Given the description of an element on the screen output the (x, y) to click on. 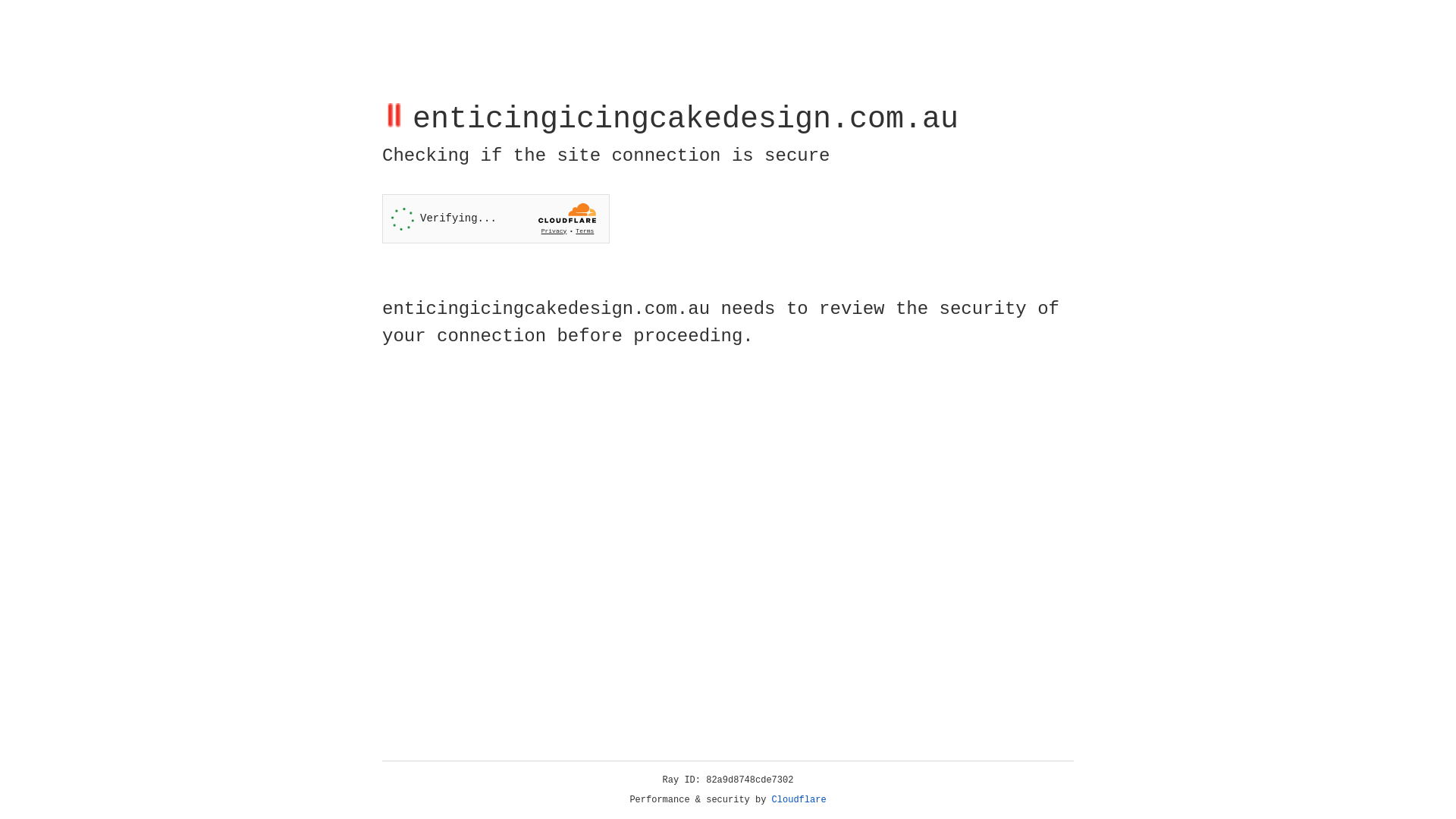
Cloudflare Element type: text (798, 799)
Widget containing a Cloudflare security challenge Element type: hover (495, 218)
